Given the description of an element on the screen output the (x, y) to click on. 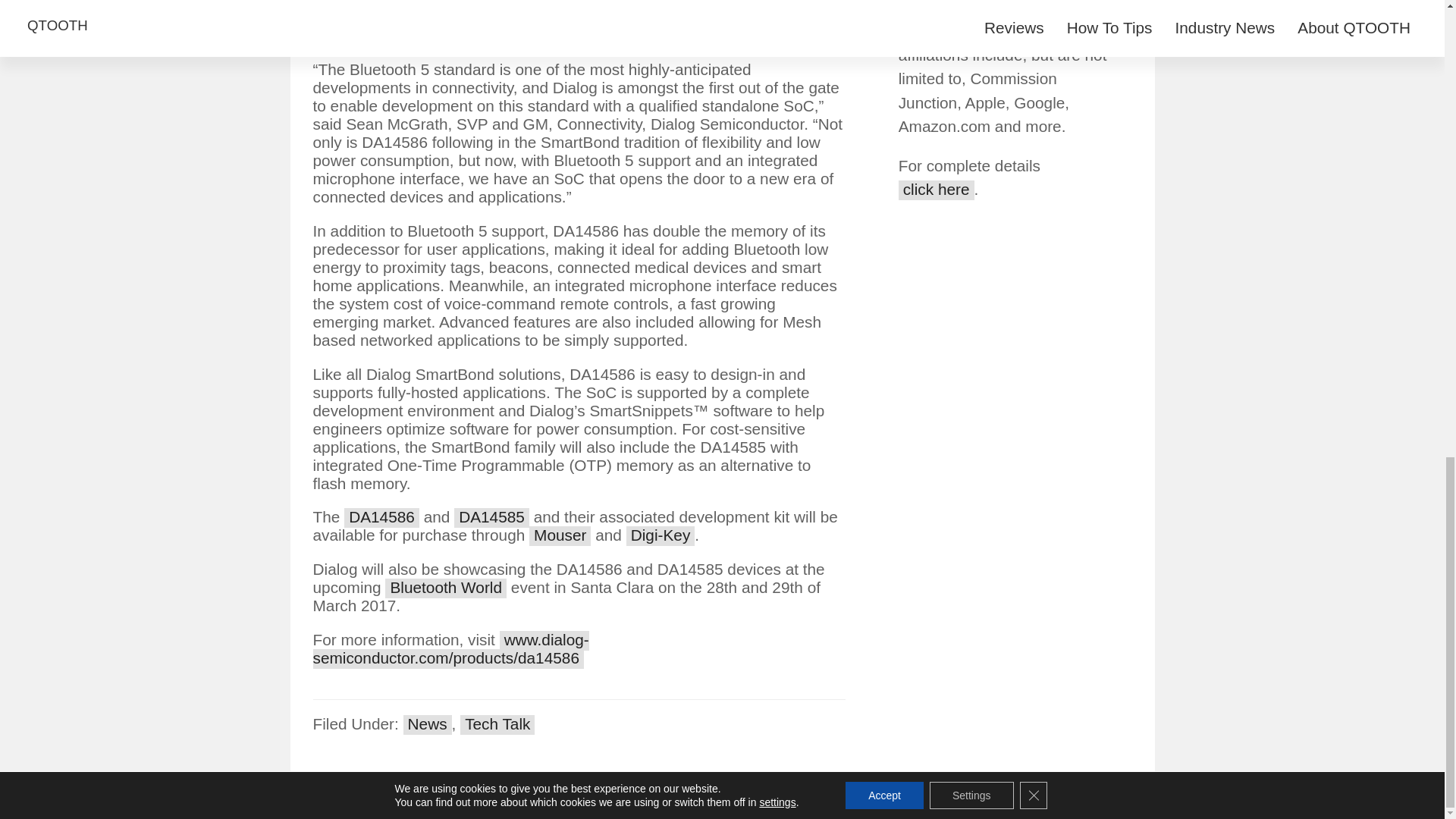
News (427, 724)
DA14585 (491, 517)
click here (936, 189)
Digi-Key (660, 536)
DA14586 (381, 517)
Bluetooth World (445, 588)
Hosting by WP Engine (686, 802)
Tech Talk (497, 724)
Domain Name Registry by Namecheap (848, 802)
Mouser (560, 536)
